Given the description of an element on the screen output the (x, y) to click on. 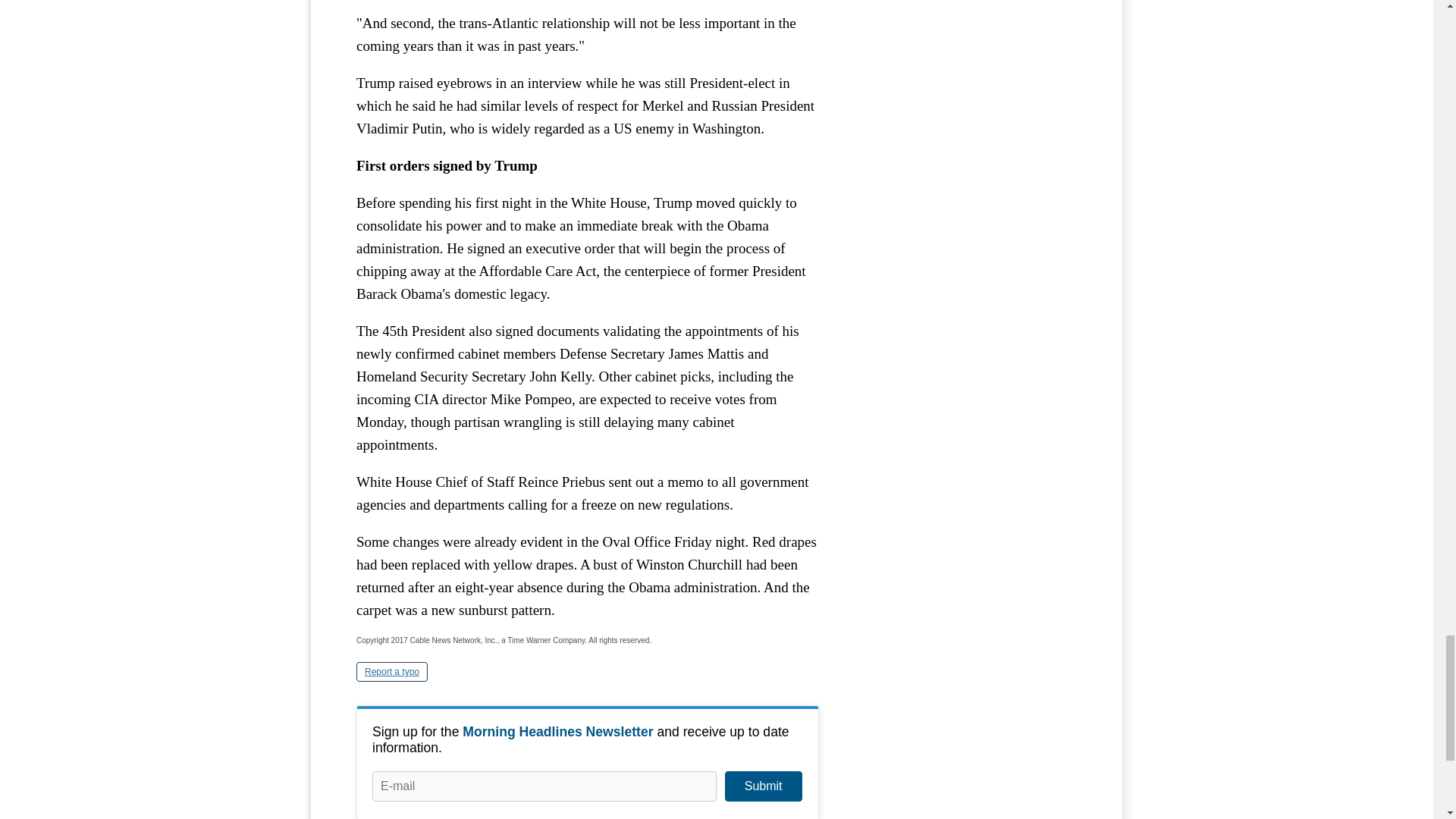
Submit (763, 786)
